Given the description of an element on the screen output the (x, y) to click on. 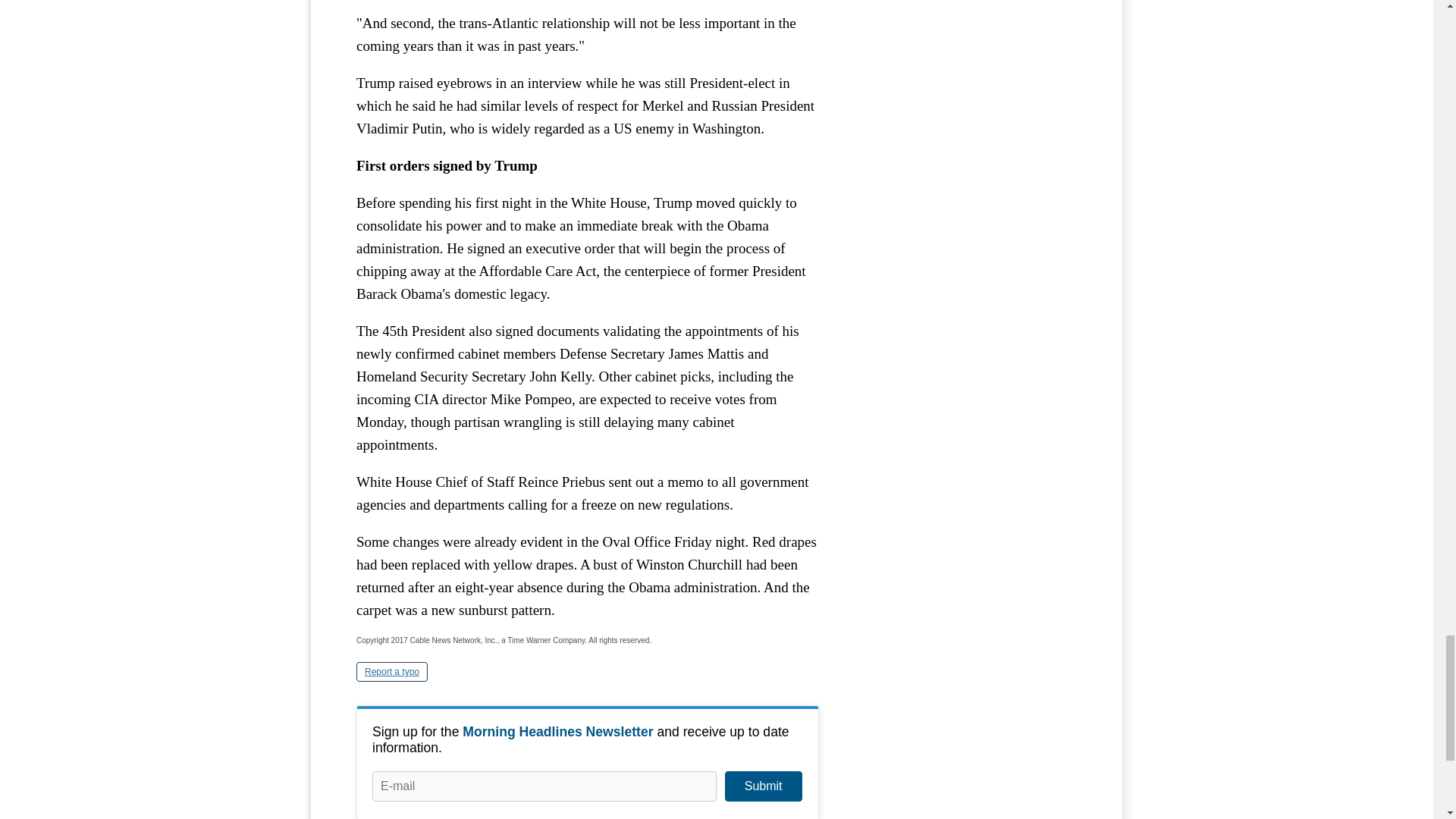
Submit (763, 786)
